Given the description of an element on the screen output the (x, y) to click on. 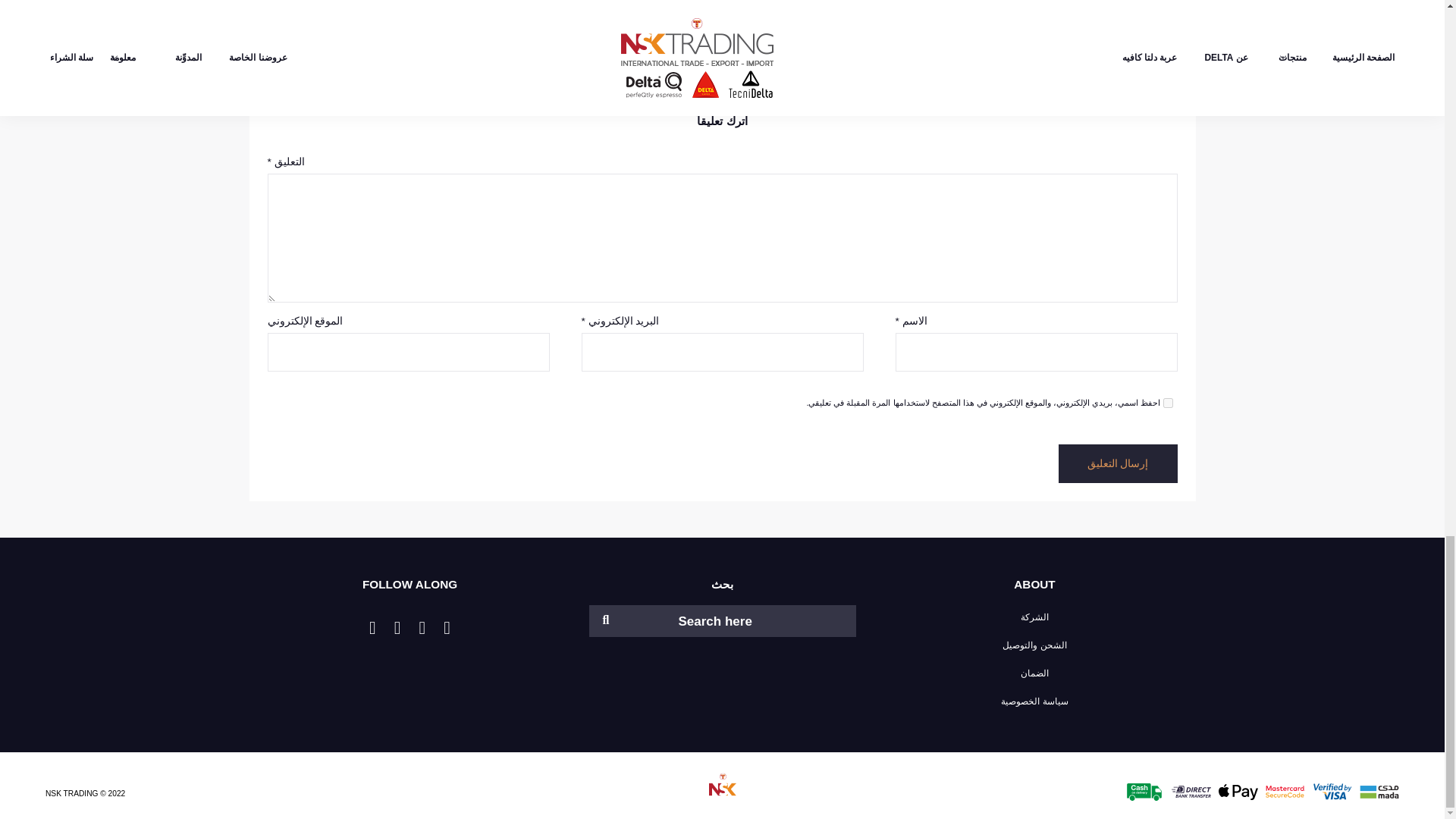
yes (1168, 402)
